Given the description of an element on the screen output the (x, y) to click on. 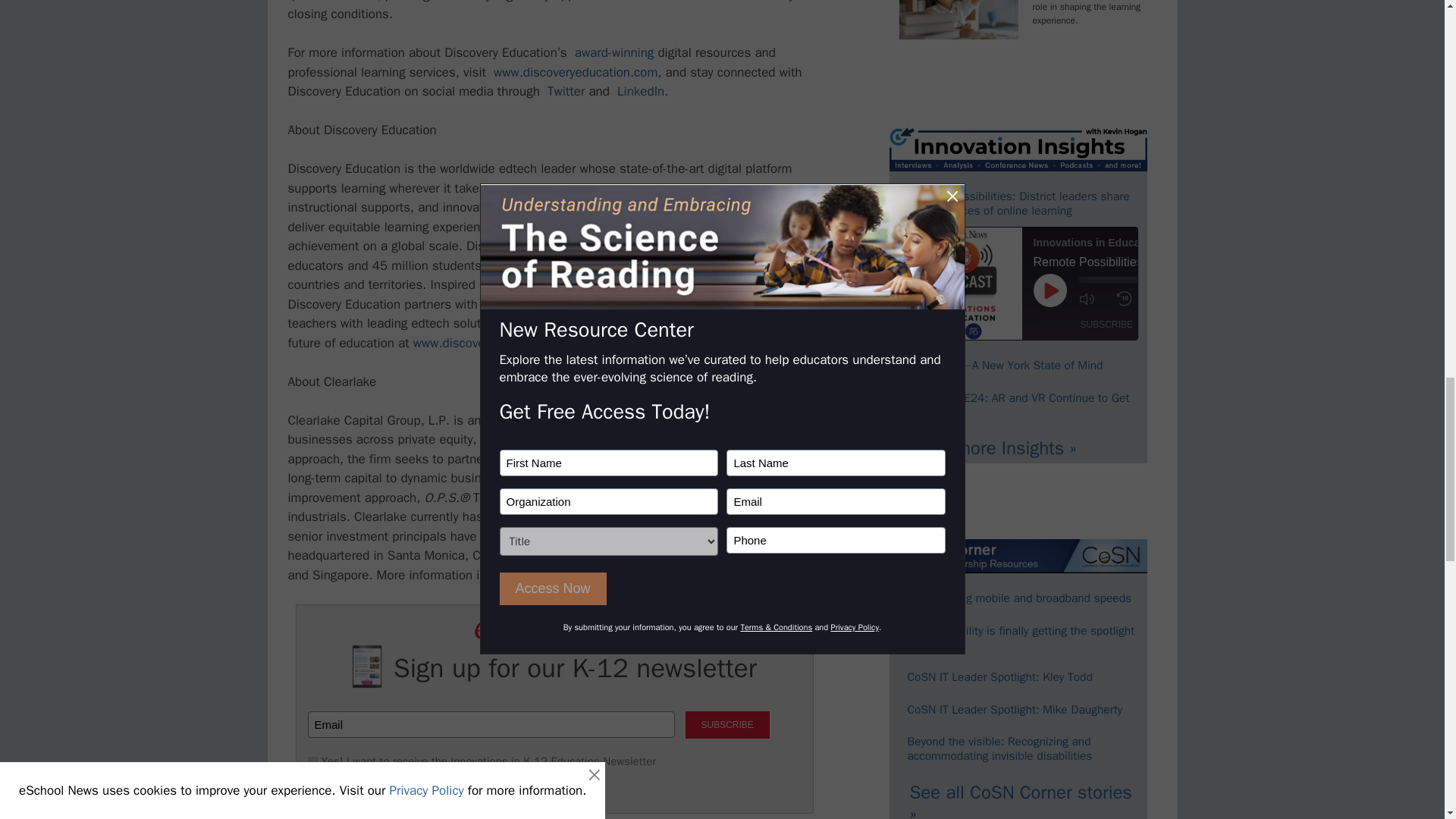
SUBSCRIBE (727, 724)
100 (312, 761)
